Given the description of an element on the screen output the (x, y) to click on. 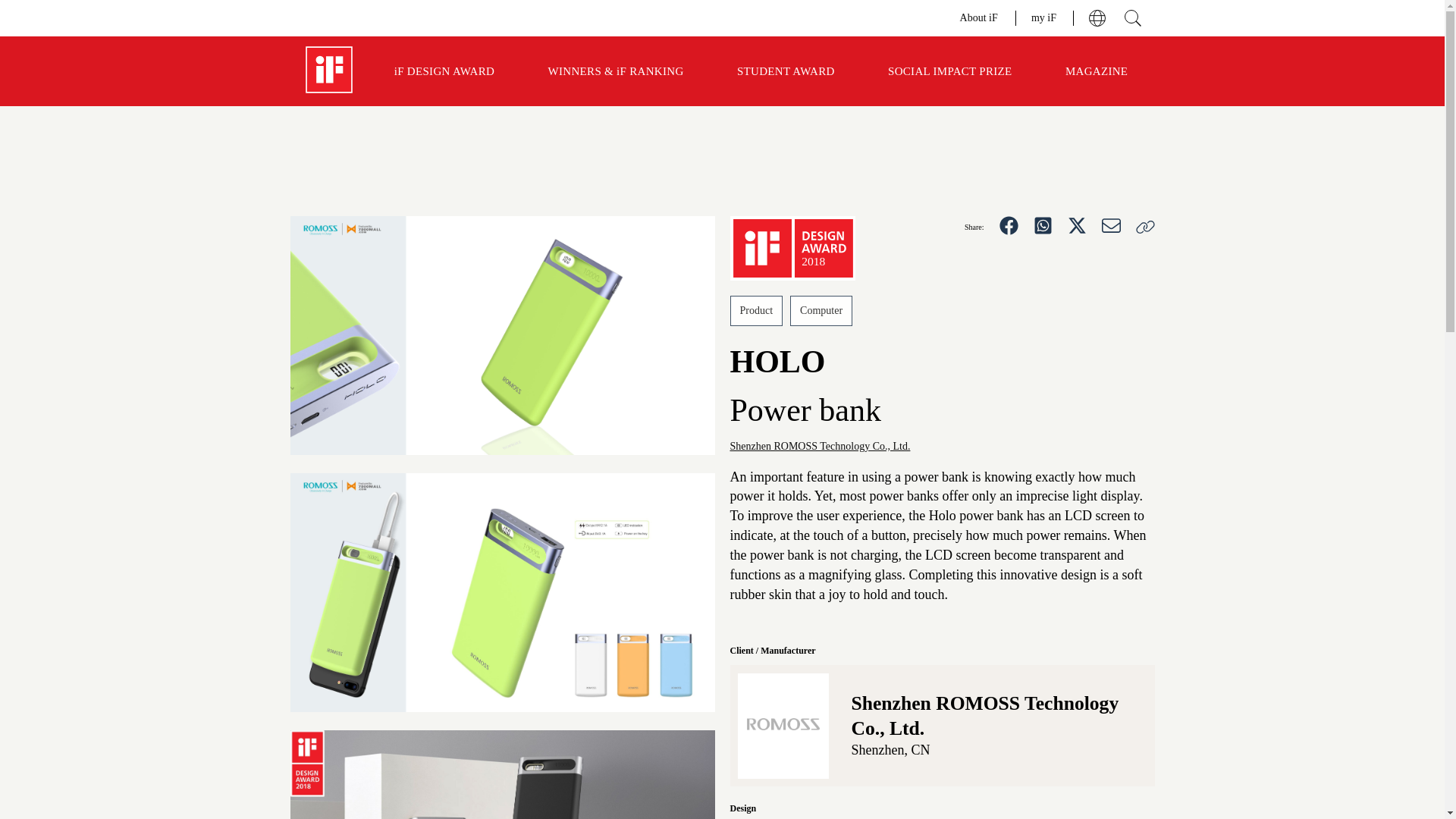
2018 (791, 248)
About iF (979, 16)
my iF (1044, 16)
